Given the description of an element on the screen output the (x, y) to click on. 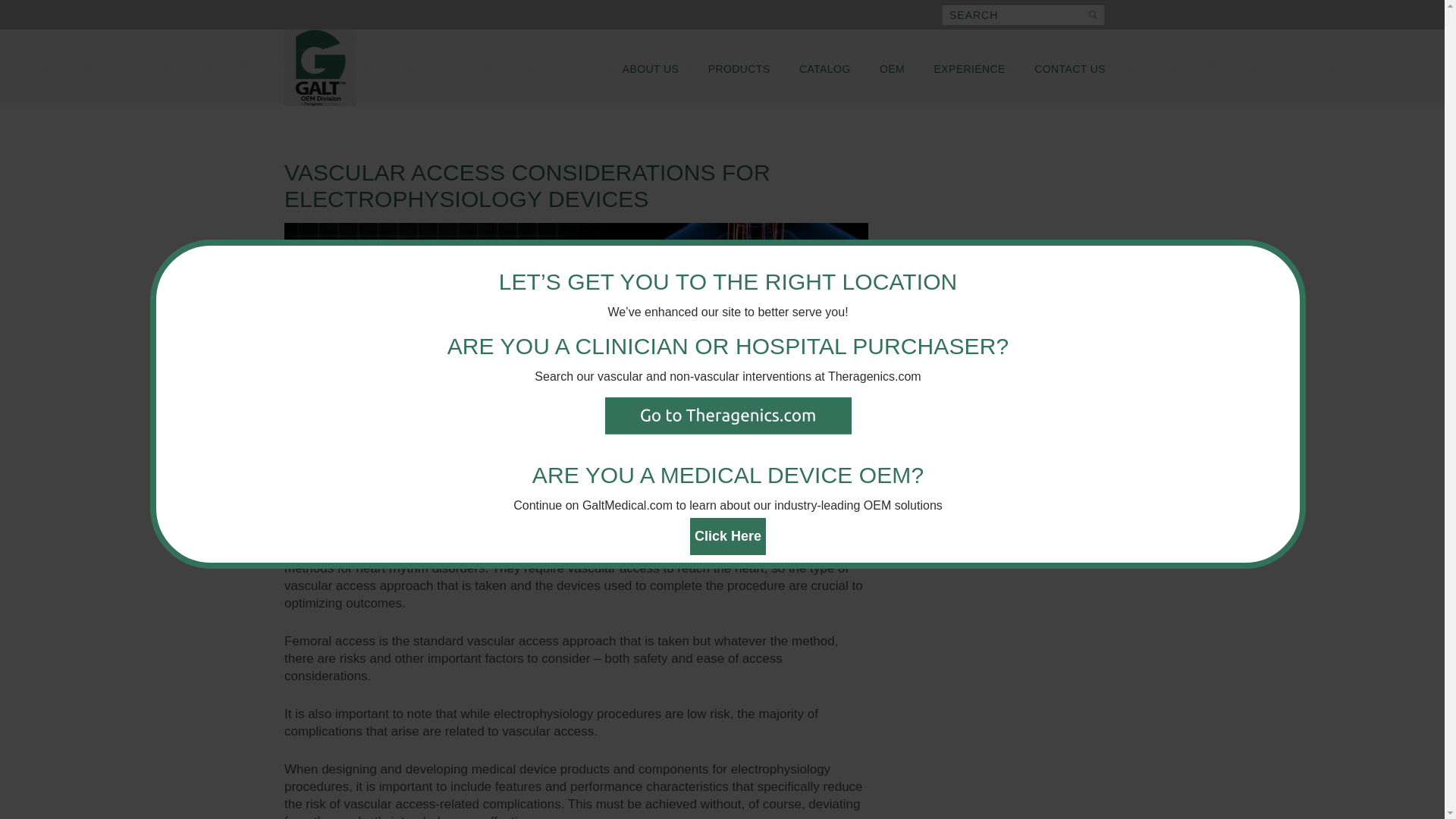
PRODUCTS (739, 66)
EXPERIENCE (969, 66)
CATALOG (824, 66)
ABOUT US (651, 66)
OEM (891, 66)
CONTACT US (1070, 66)
